Given the description of an element on the screen output the (x, y) to click on. 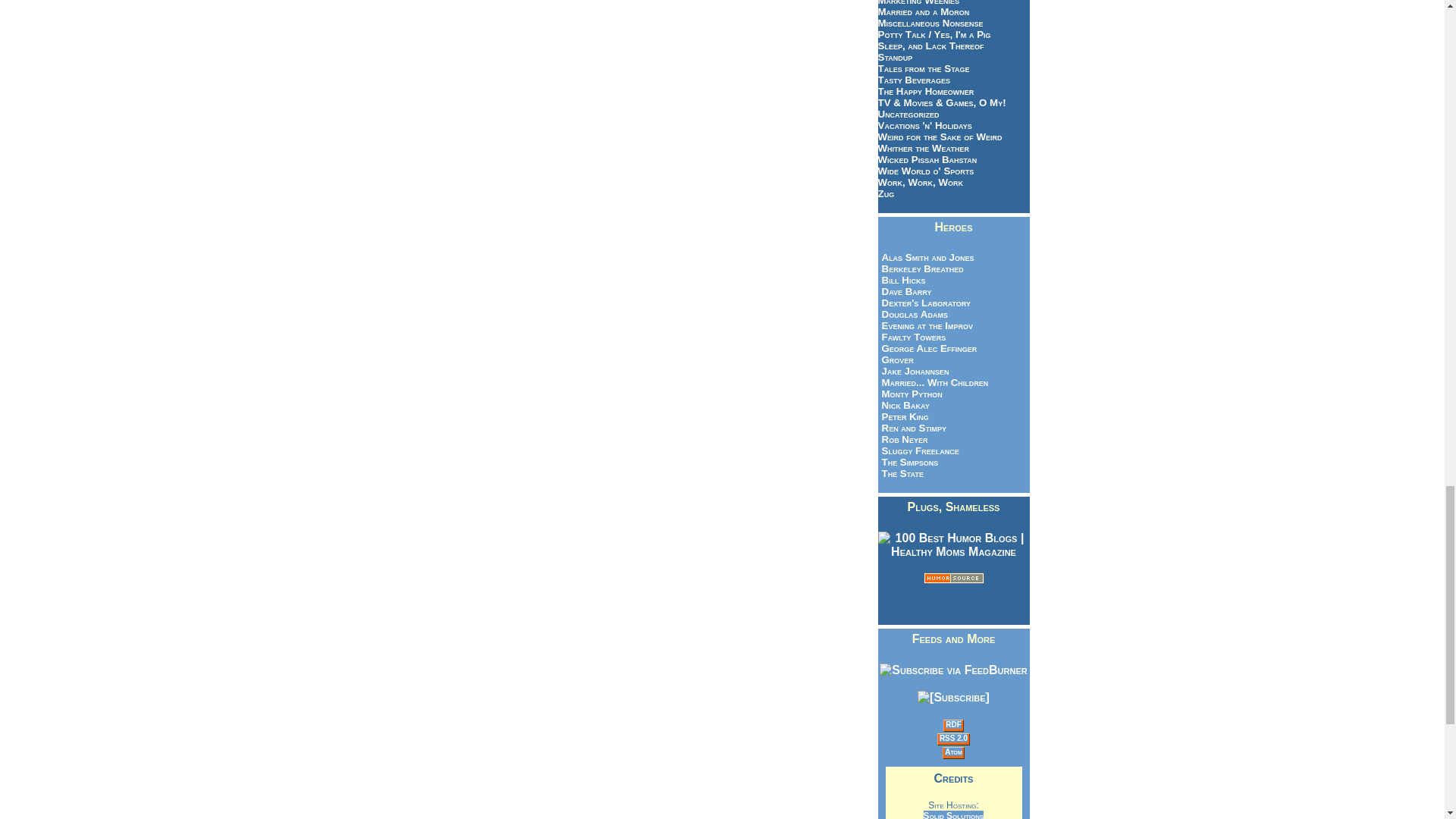
Subscribe to my feed (952, 669)
RSD (952, 724)
RSS 2.0 (953, 737)
Atom (953, 751)
